Given the description of an element on the screen output the (x, y) to click on. 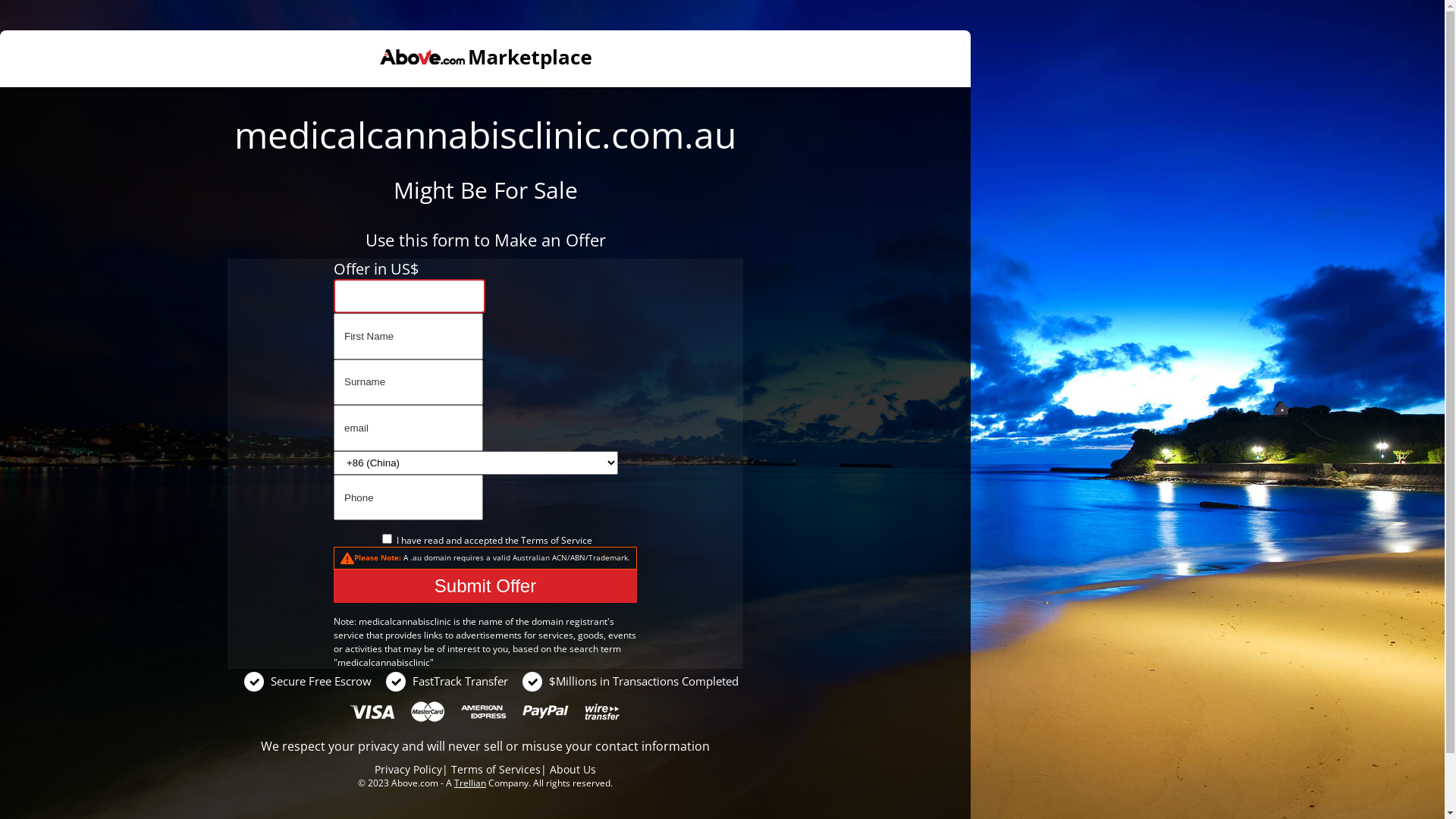
Submit Offer Element type: text (485, 585)
Terms of Services Element type: text (495, 769)
About Us Element type: text (572, 769)
Privacy Policy Element type: text (408, 769)
Trellian Element type: text (470, 782)
Terms Element type: text (533, 539)
